Given the description of an element on the screen output the (x, y) to click on. 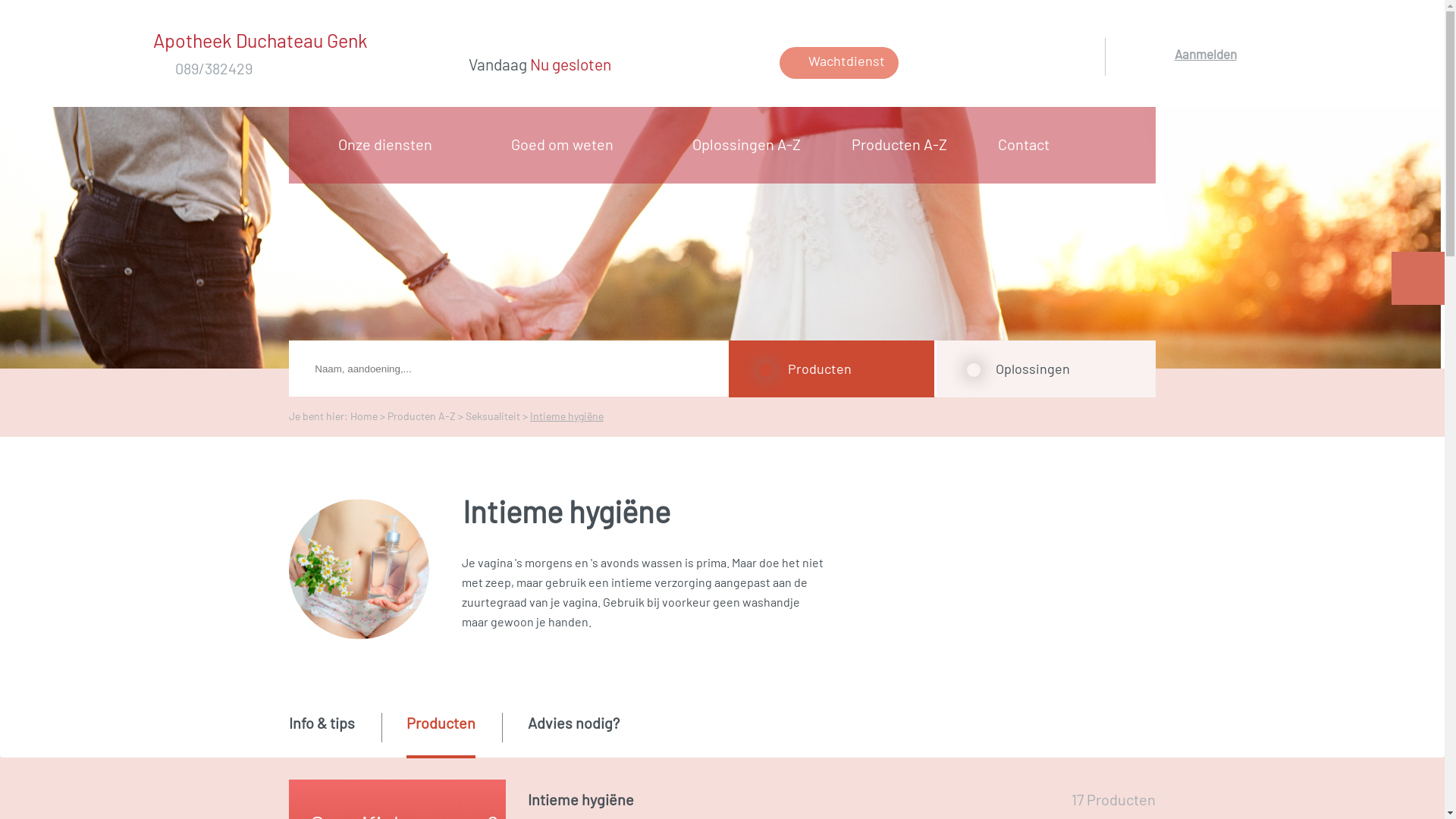
Oplossingen A-Z Element type: text (751, 143)
Aanmelden Element type: text (1205, 73)
Onze diensten Element type: text (390, 143)
Seksualiteit Element type: text (492, 415)
Goed om weten Element type: text (567, 143)
Info & tips Element type: text (321, 733)
Producten A-Z Element type: text (903, 143)
Contact Element type: text (1028, 143)
Producten A-Z Element type: text (421, 415)
Producten Element type: text (440, 735)
Wachtdienst Element type: text (838, 62)
Vandaag
Nu 
gesloten Element type: text (621, 65)
Advies nodig? Element type: text (573, 733)
